Given the description of an element on the screen output the (x, y) to click on. 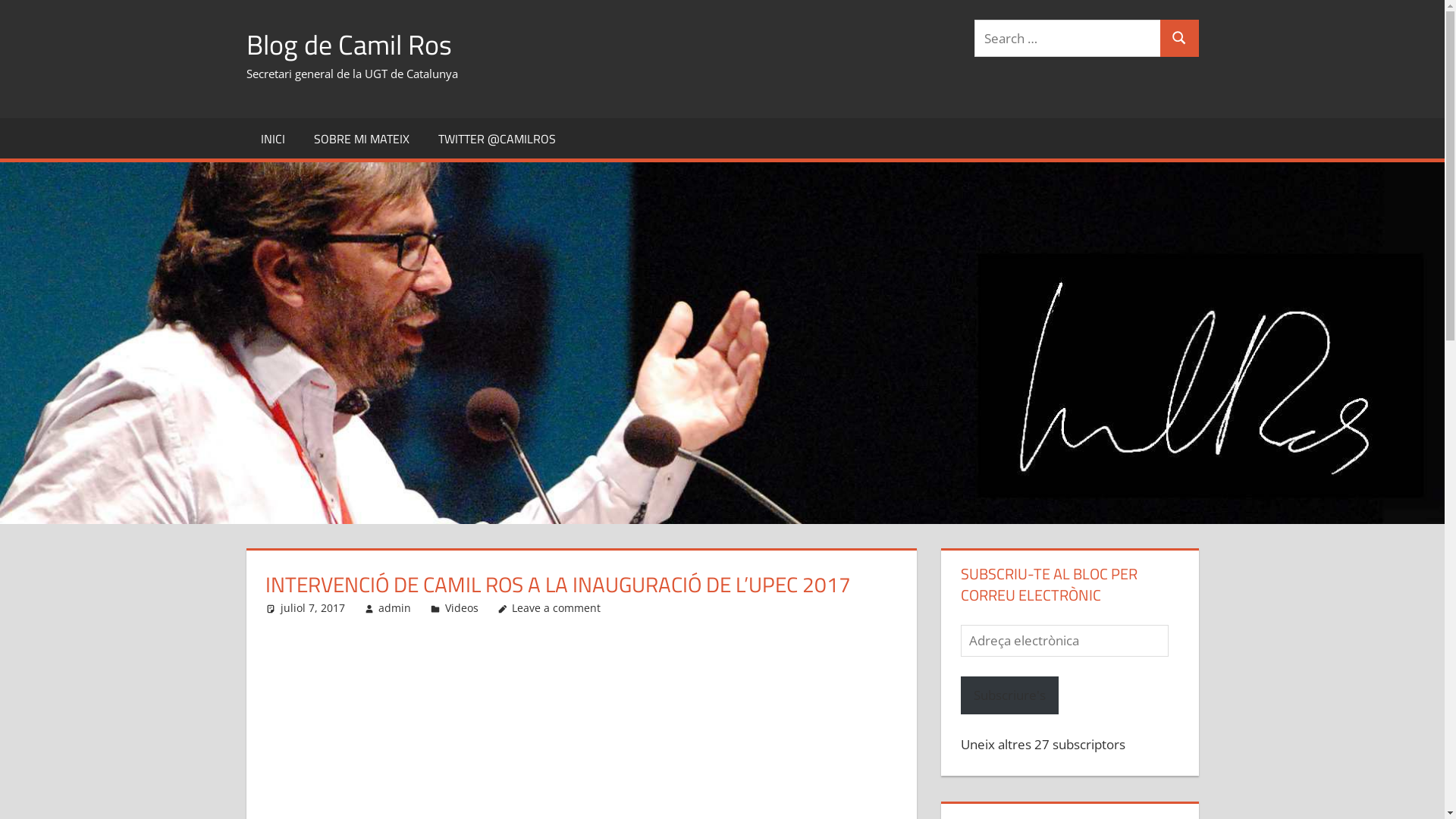
Search for: Element type: hover (1067, 37)
Leave a comment Element type: text (555, 607)
Blog de Camil Ros Element type: text (348, 44)
juliol 7, 2017 Element type: text (312, 607)
Videos Element type: text (461, 607)
INICI Element type: text (271, 138)
TWITTER @CAMILROS Element type: text (496, 138)
SOBRE MI MATEIX Element type: text (361, 138)
admin Element type: text (394, 607)
Subscriure's Element type: text (1009, 695)
Search Element type: text (1179, 37)
